Given the description of an element on the screen output the (x, y) to click on. 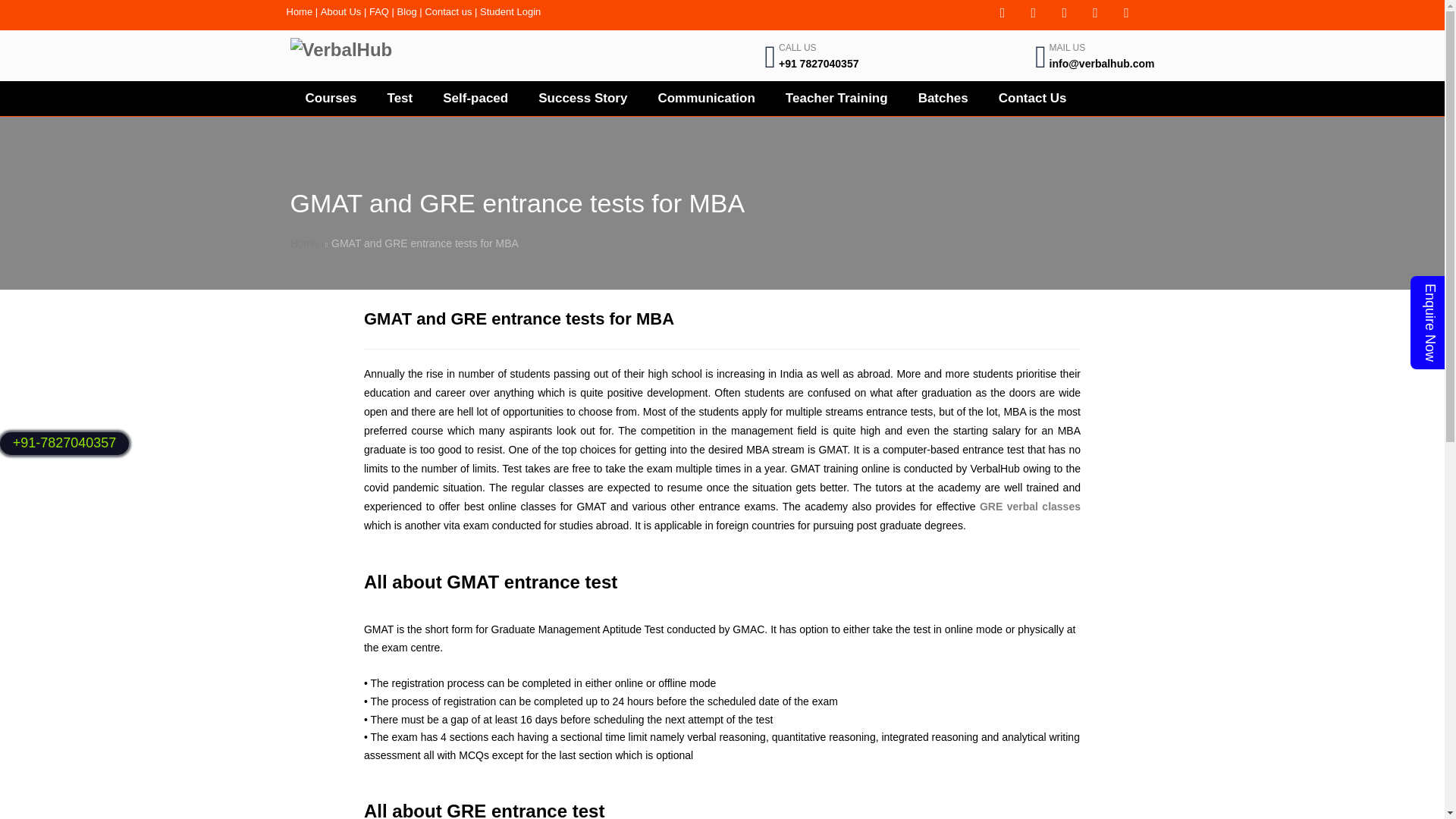
CALL US (797, 47)
Blog (406, 11)
Courses (330, 98)
Home (299, 11)
MAIL US (1067, 47)
Test (400, 98)
About Us (340, 11)
FAQ (378, 11)
Student Login (510, 11)
Contact us (448, 11)
